Given the description of an element on the screen output the (x, y) to click on. 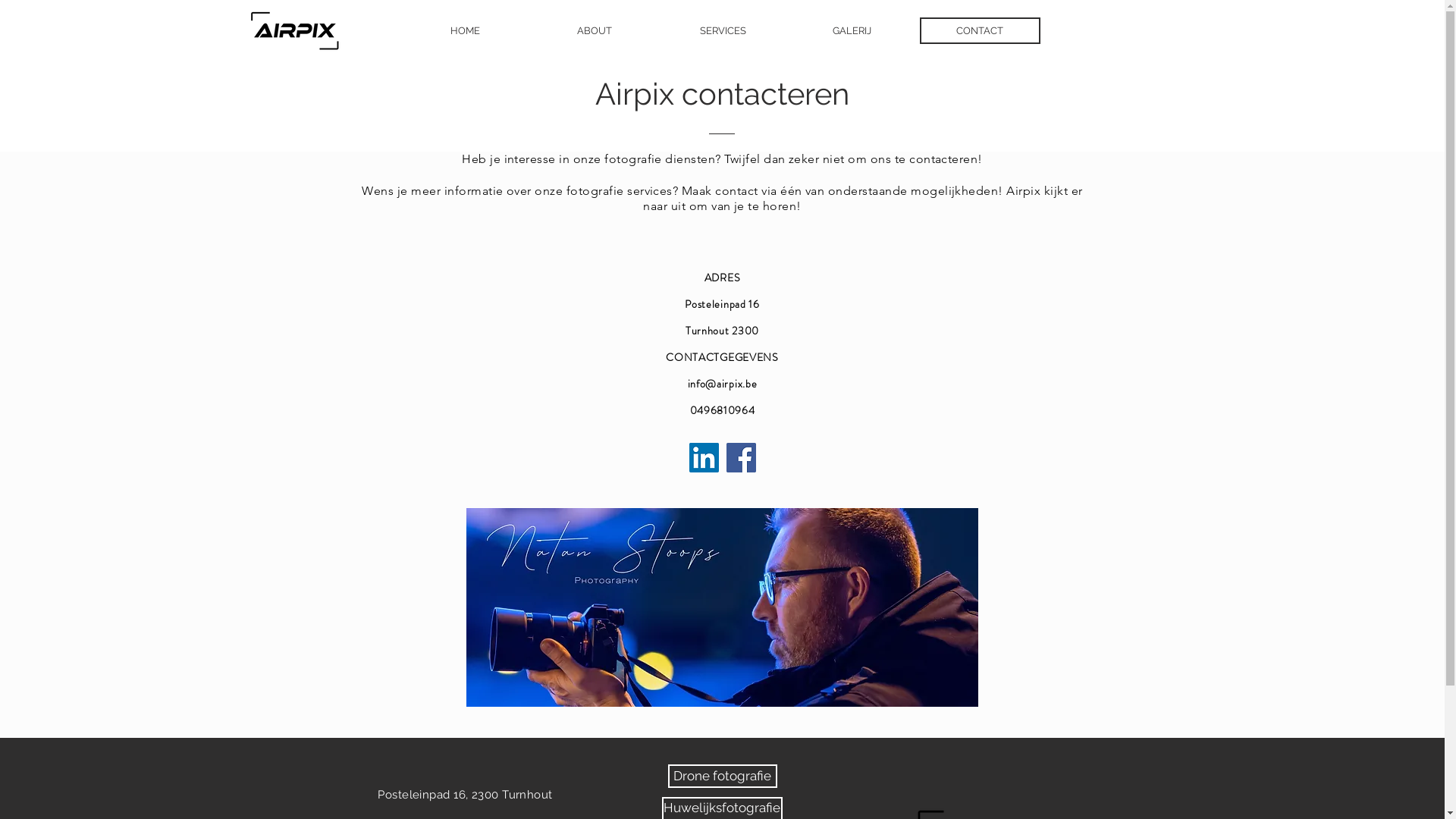
SERVICES Element type: text (723, 30)
ABOUT Element type: text (594, 30)
CONTACT Element type: text (979, 30)
info@airpix.be Element type: text (722, 383)
Drone fotografie Element type: text (721, 775)
HOME Element type: text (465, 30)
GALERIJ Element type: text (851, 30)
